Given the description of an element on the screen output the (x, y) to click on. 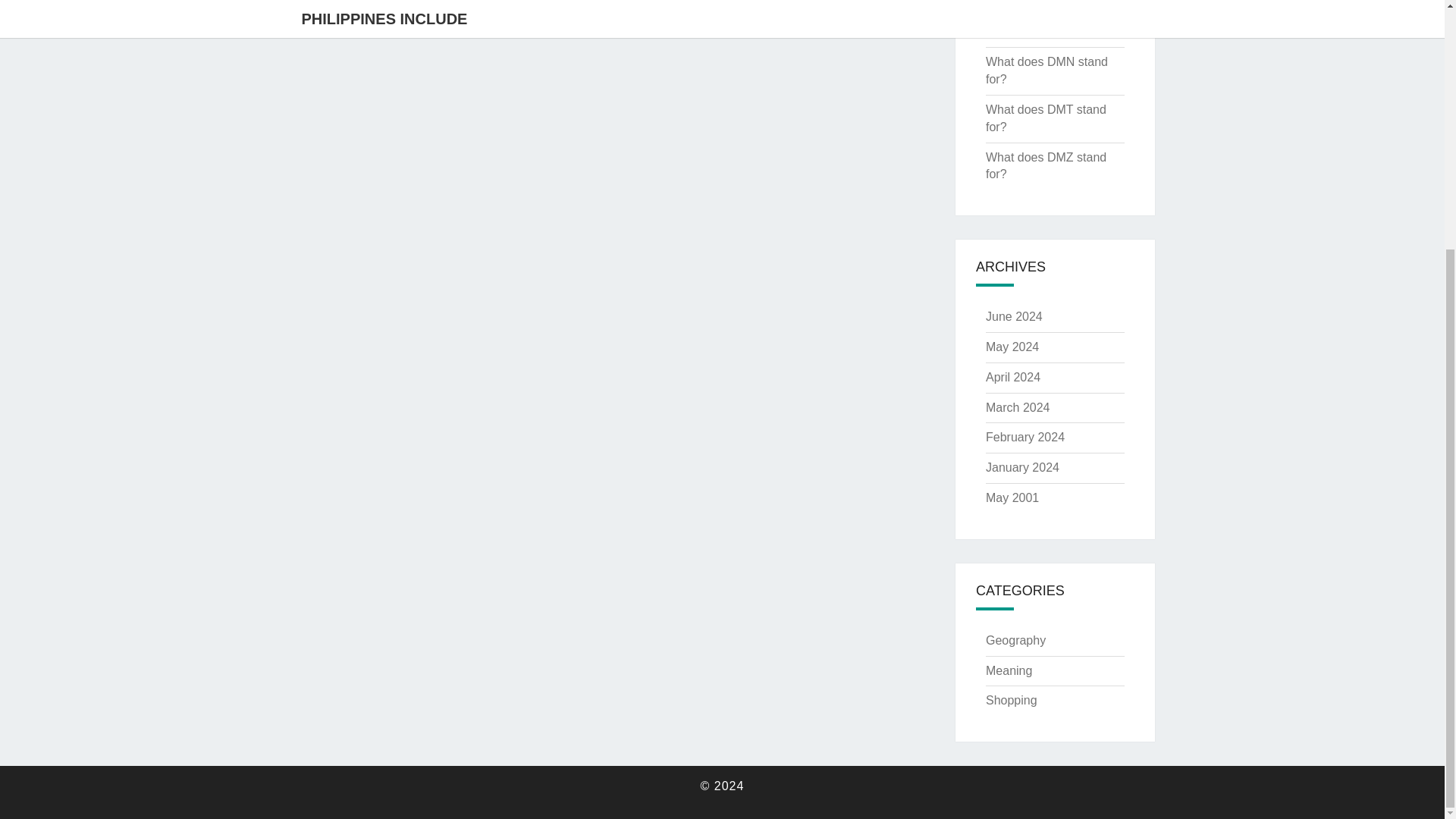
Geography (1015, 640)
What does DMI stand for? (1043, 4)
April 2024 (1013, 377)
Shopping (1010, 699)
January 2024 (1022, 467)
Quartz Wall Clocks (1036, 31)
What does DMN stand for? (1046, 70)
February 2024 (1024, 436)
June 2024 (1013, 316)
May 2024 (1012, 346)
May 2001 (1012, 497)
What does DMZ stand for? (1045, 165)
Meaning (1008, 670)
What does DMT stand for? (1045, 118)
March 2024 (1017, 407)
